Given the description of an element on the screen output the (x, y) to click on. 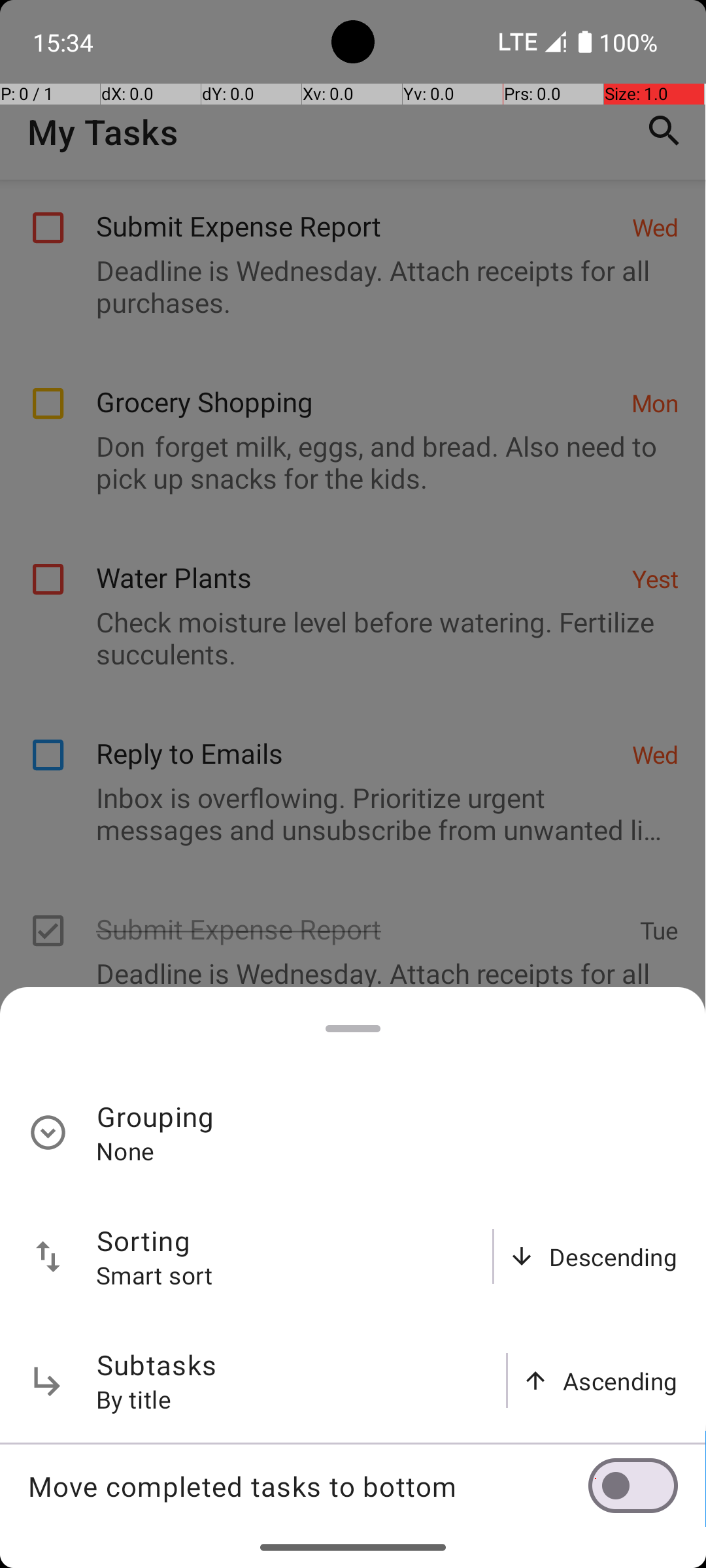
Drag handle Element type: android.view.View (352, 1028)
Grouping Element type: android.widget.TextView (155, 1115)
Sorting Element type: android.widget.TextView (143, 1239)
Smart sort Element type: android.widget.TextView (154, 1274)
Subtasks Element type: android.widget.TextView (156, 1364)
By title Element type: android.widget.TextView (133, 1399)
Move completed tasks to bottom Element type: android.widget.TextView (307, 1485)
Descending Element type: android.widget.TextView (613, 1256)
Ascending Element type: android.widget.TextView (619, 1380)
